Given the description of an element on the screen output the (x, y) to click on. 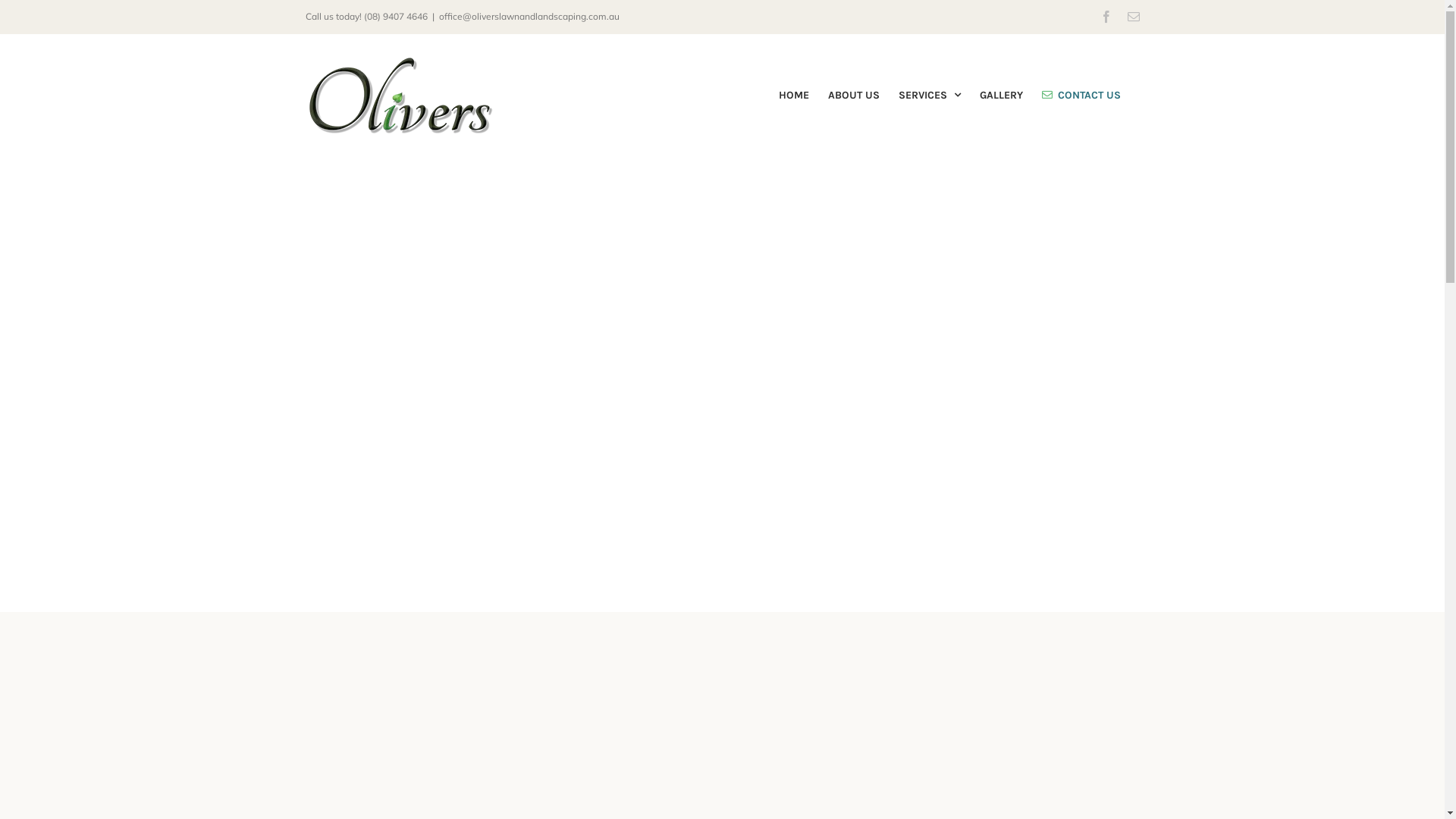
HOME Element type: text (793, 94)
ABOUT US Element type: text (853, 94)
CONTACT US Element type: text (1080, 94)
GALLERY Element type: text (1000, 94)
Facebook Element type: text (1105, 16)
Call us today! (08) 9407 4646 Element type: text (365, 15)
Email Element type: text (1132, 16)
SERVICES Element type: text (928, 94)
office@oliverslawnandlandscaping.com.au Element type: text (528, 15)
